Given the description of an element on the screen output the (x, y) to click on. 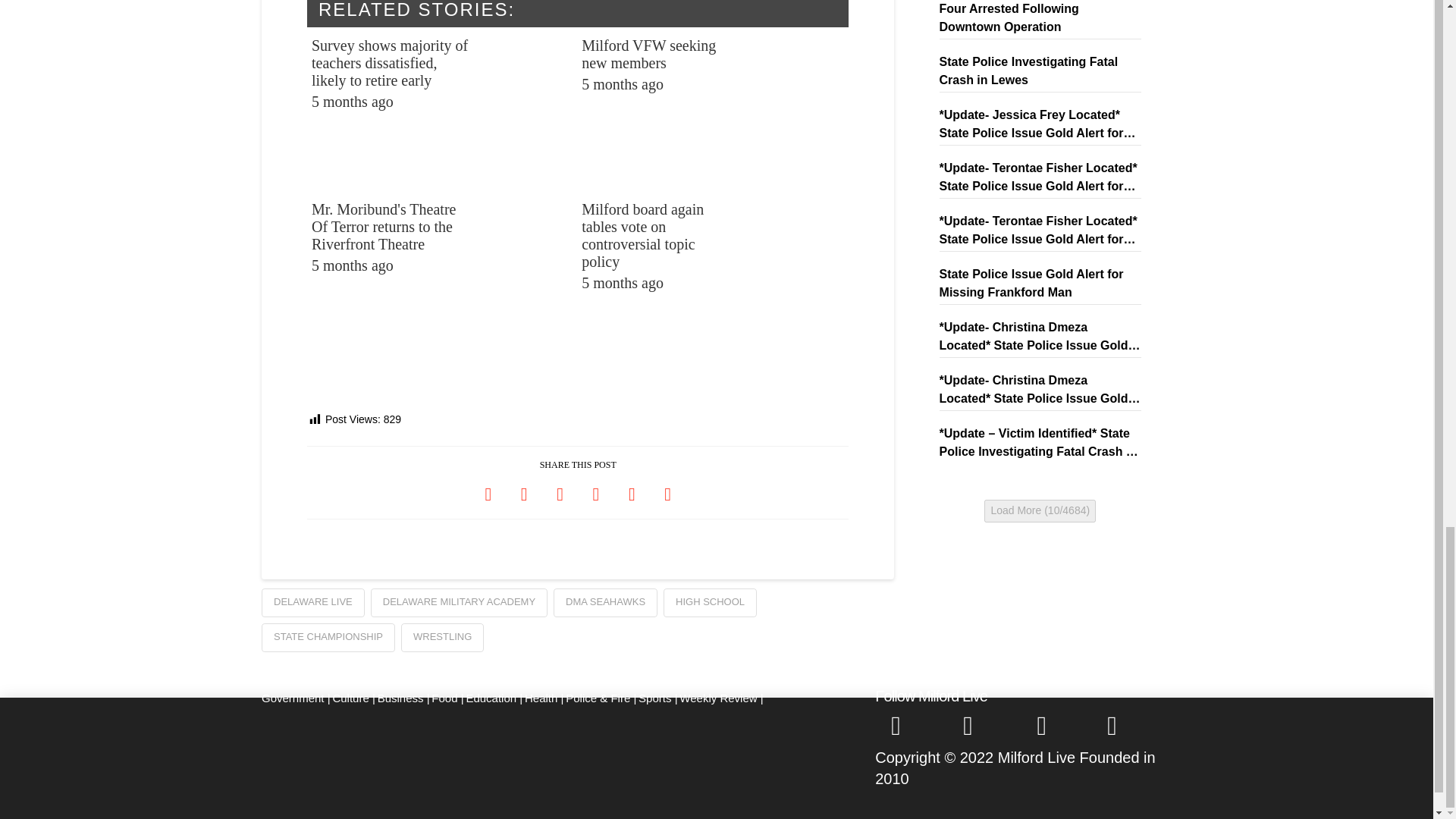
HIGH SCHOOL (710, 602)
DMA SEAHAWKS (605, 602)
DELAWARE MILITARY ACADEMY (459, 602)
DELAWARE LIVE (711, 110)
